Given the description of an element on the screen output the (x, y) to click on. 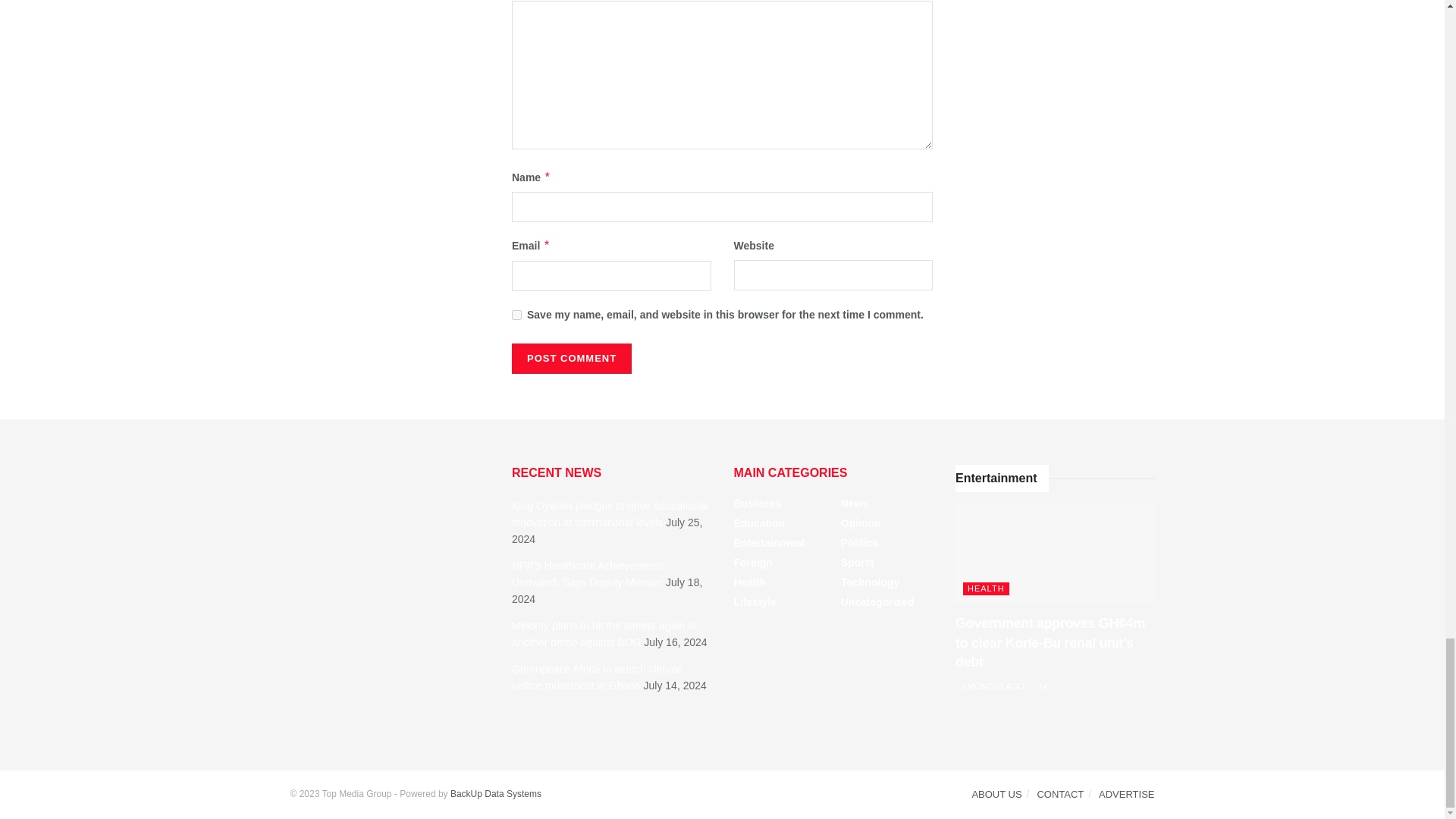
Post Comment (571, 358)
yes (516, 315)
